Given the description of an element on the screen output the (x, y) to click on. 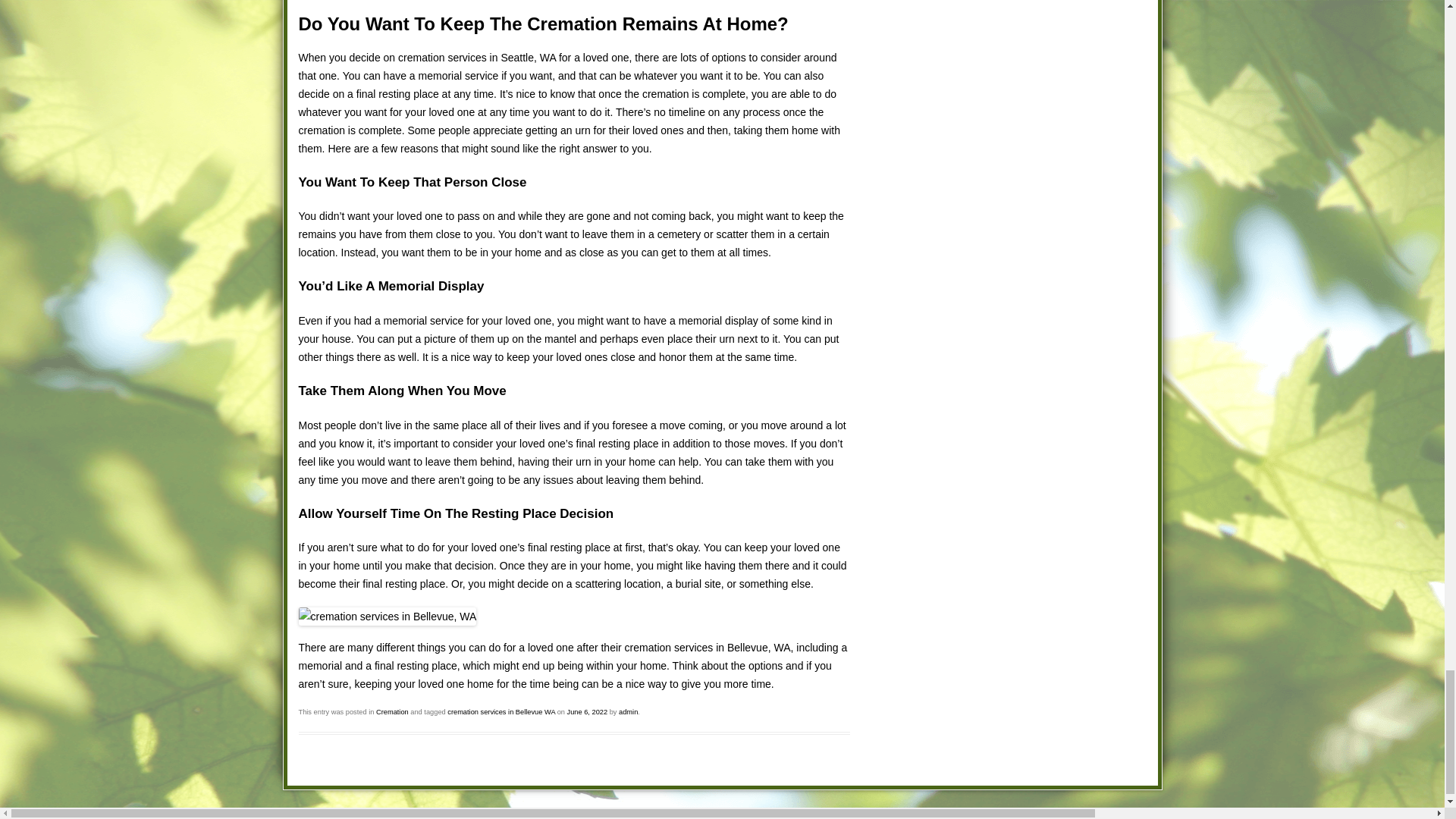
5:00 am (587, 711)
View all posts by admin (627, 711)
